Given the description of an element on the screen output the (x, y) to click on. 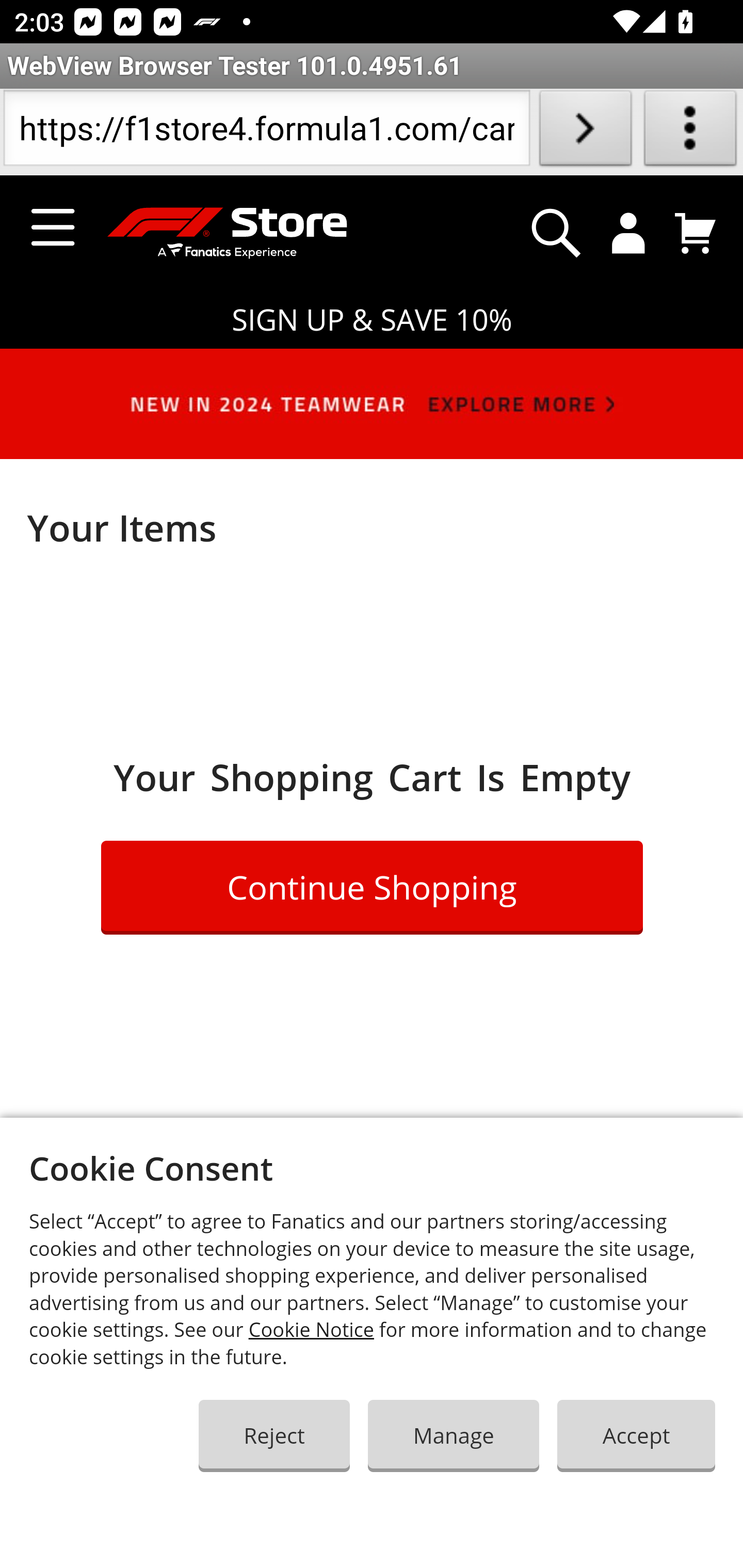
Load URL (585, 132)
About WebView (690, 132)
F1 Store (217, 234)
 (555, 233)
 (628, 233)
You have 0 items in cart. The total is US$0.00  (695, 232)
SIGN UP & SAVE 10% (371, 320)
NEW IN 2024 TEAMWEAR - SHOP NOW (371, 411)
Your Items (371, 526)
Continue Shopping (372, 887)
Cookie Notice (311, 1329)
Reject (274, 1435)
Manage (452, 1435)
Accept (636, 1435)
